Given the description of an element on the screen output the (x, y) to click on. 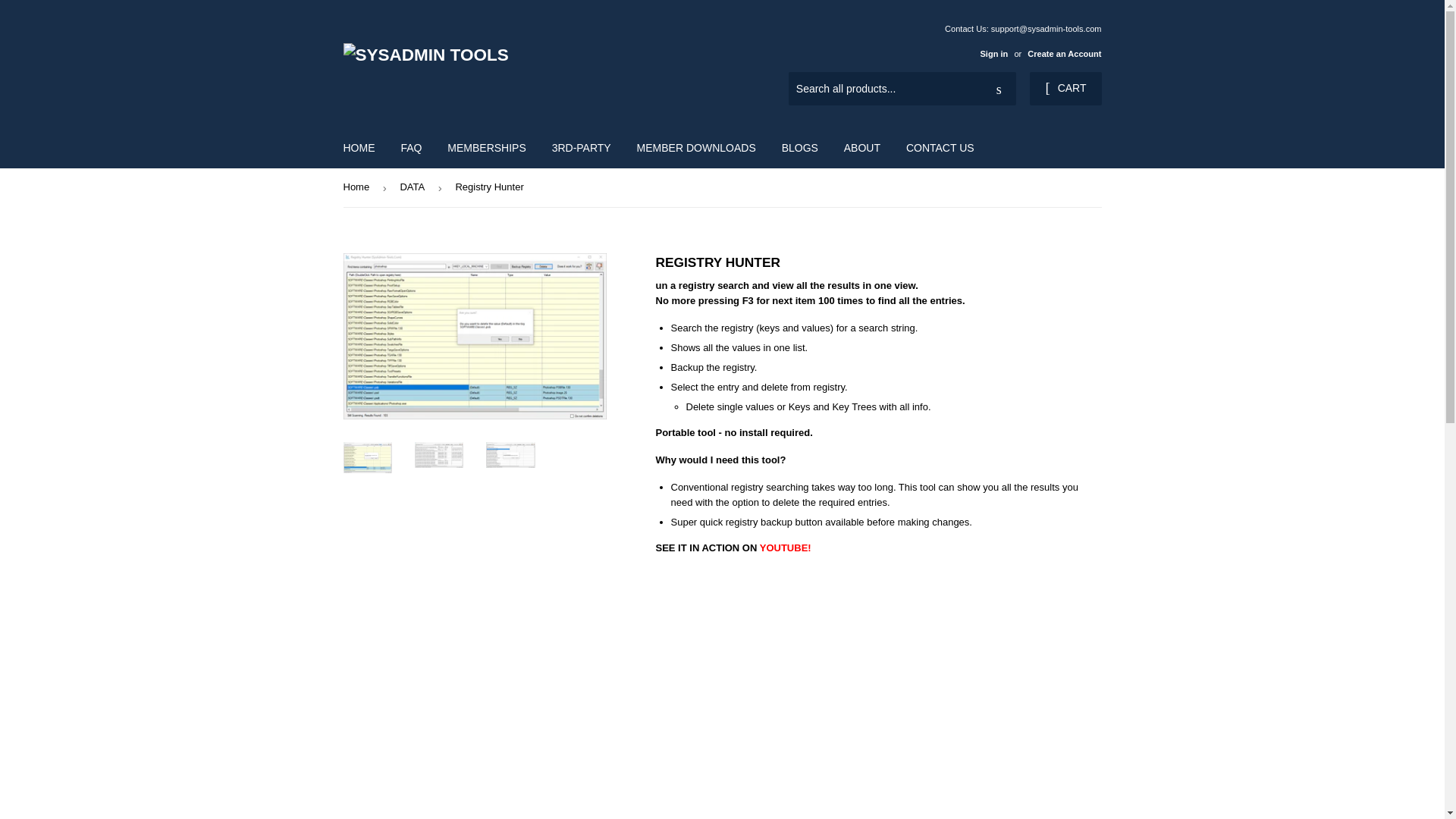
ABOUT (861, 147)
CART (1064, 88)
MEMBERSHIPS (486, 147)
Search (998, 89)
YouTube video player (877, 693)
Sign in (993, 53)
HOME (359, 147)
FAQ (410, 147)
3RD-PARTY (581, 147)
MEMBER DOWNLOADS (696, 147)
CONTACT US (940, 147)
Create an Account (1063, 53)
BLOGS (799, 147)
